Given the description of an element on the screen output the (x, y) to click on. 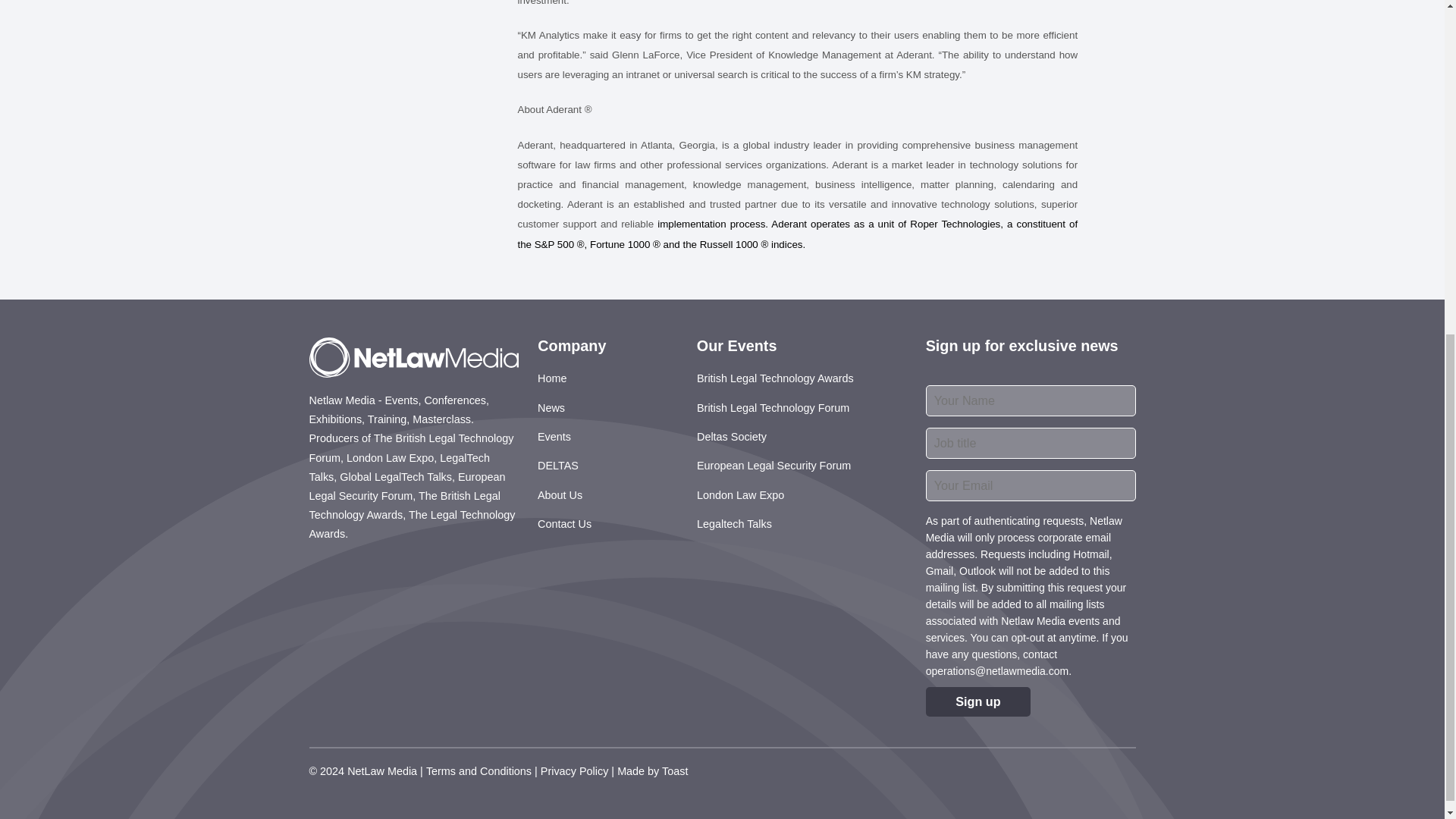
Contact Us (564, 524)
British Legal Technology Awards (775, 379)
Home (551, 379)
About Us (559, 496)
Sign up (978, 701)
News (550, 407)
British Legal Technology Forum (772, 407)
DELTAS (557, 466)
Events (553, 437)
